Given the description of an element on the screen output the (x, y) to click on. 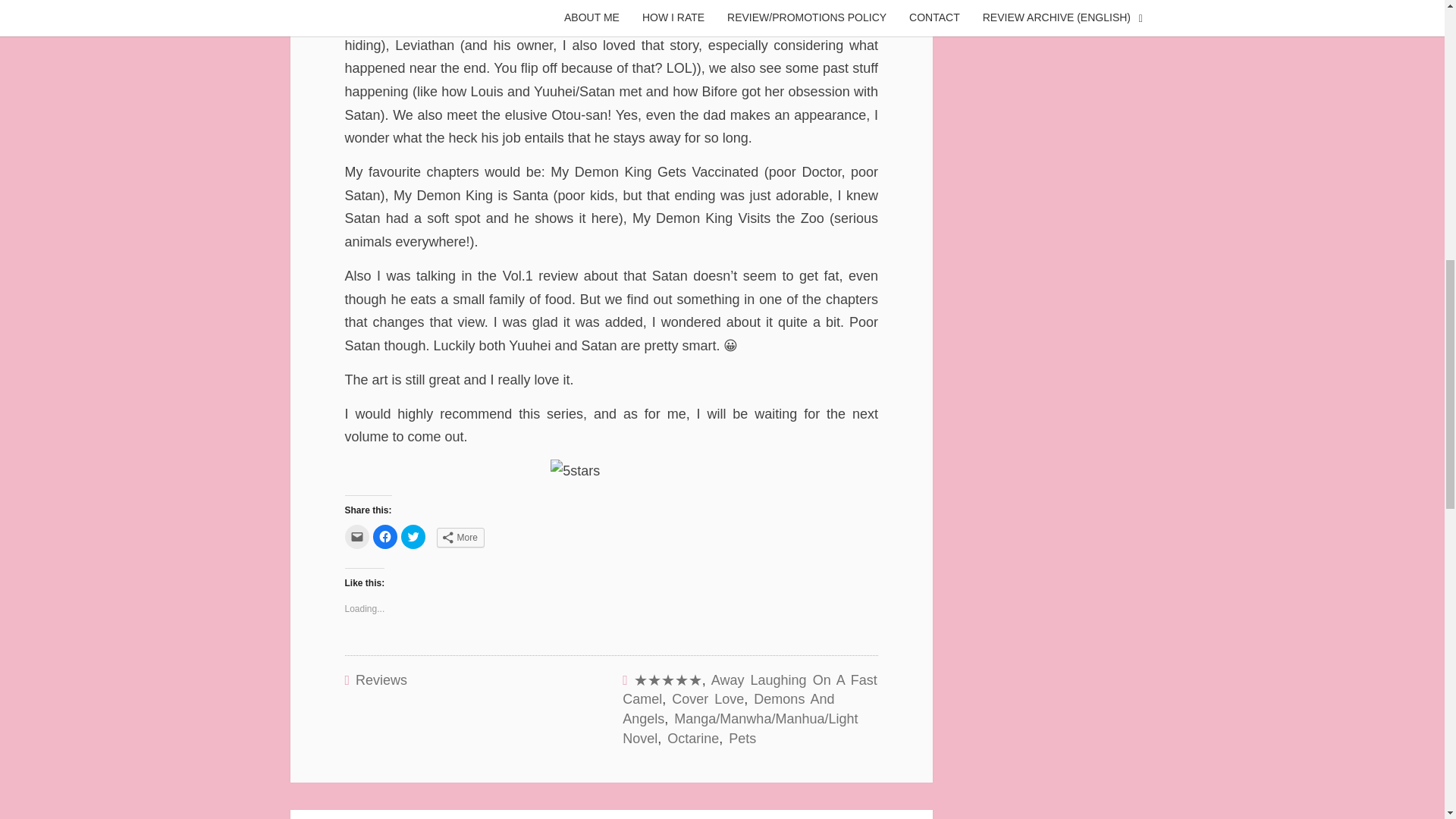
Click to email a link to a friend (355, 536)
Click to share on Twitter (412, 536)
Click to share on Facebook (384, 536)
